Given the description of an element on the screen output the (x, y) to click on. 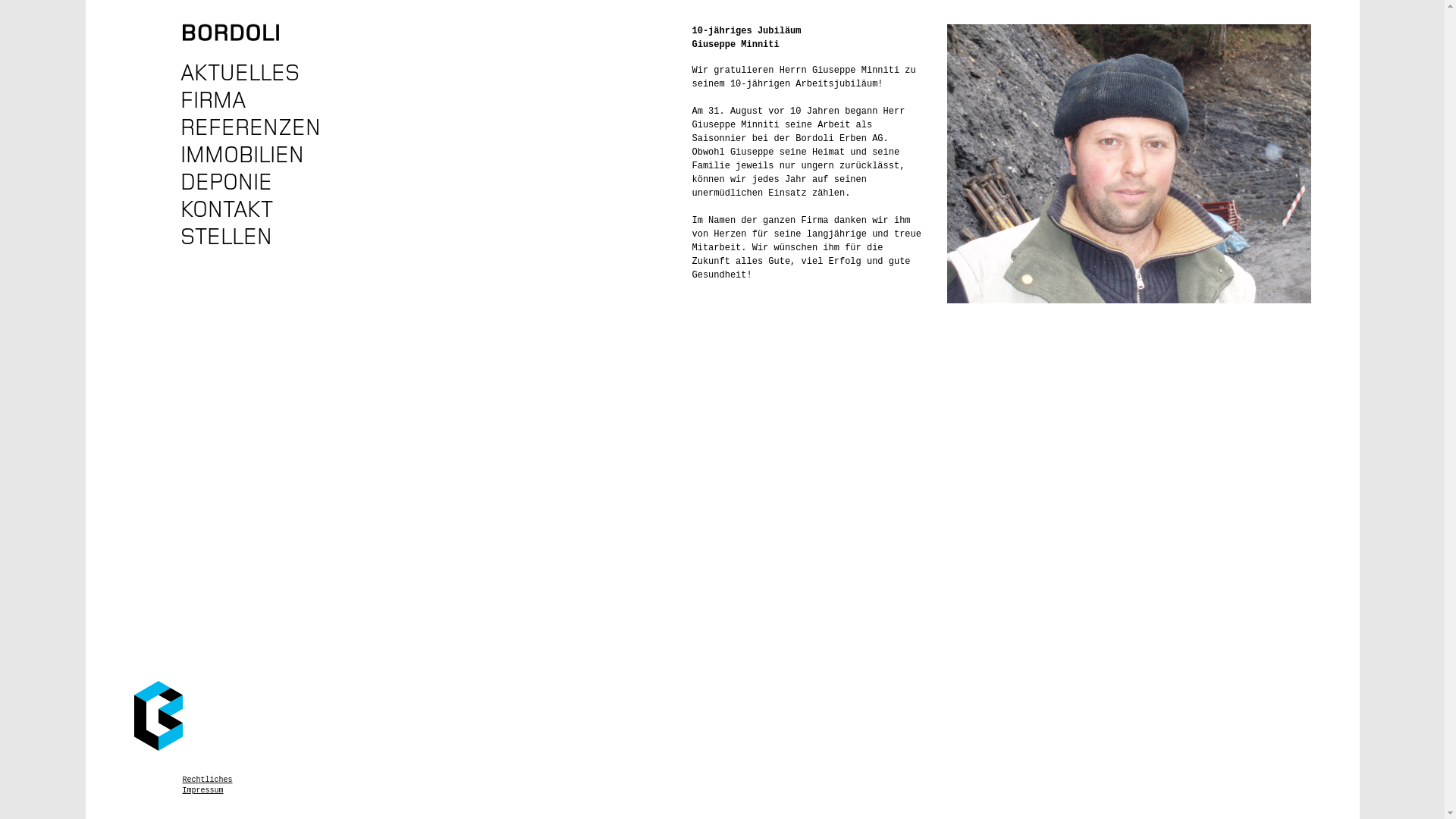
IMMOBILIEN Element type: text (259, 154)
Impressum Element type: text (207, 790)
AKTUELLES Element type: text (259, 72)
Rechtliches Element type: text (207, 780)
REFERENZEN Element type: text (259, 127)
STELLEN Element type: text (259, 236)
DEPONIE Element type: text (259, 181)
KONTAKT Element type: text (259, 208)
FIRMA Element type: text (259, 99)
